Given the description of an element on the screen output the (x, y) to click on. 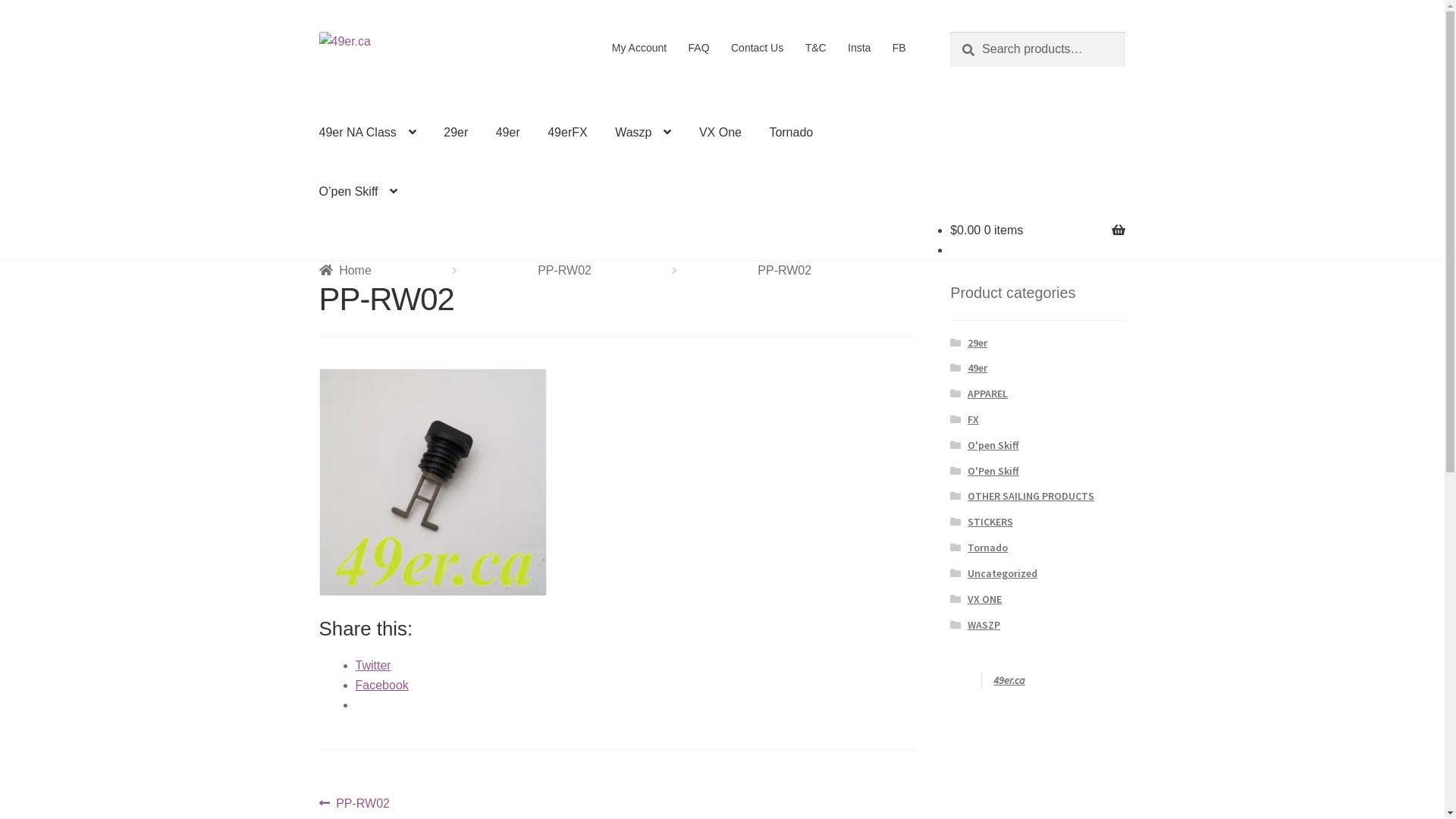
O'pen Skiff Element type: text (993, 444)
Facebook Element type: text (381, 684)
49er Element type: text (977, 367)
Contact Us Element type: text (757, 47)
Skip to navigation Element type: text (318, 31)
Home Element type: text (345, 269)
$0.00 0 items Element type: text (986, 229)
Waszp Element type: text (642, 132)
Insta Element type: text (859, 47)
49er.ca Element type: text (1009, 680)
Search Element type: text (949, 31)
VX One Element type: text (720, 132)
FX Element type: text (973, 419)
PP-RW02 Element type: text (564, 269)
VX ONE Element type: text (984, 598)
49er NA Class Element type: text (367, 132)
APPAREL Element type: text (987, 393)
29er Element type: text (455, 132)
O'Pen Skiff Element type: text (993, 470)
29er Element type: text (977, 342)
STICKERS Element type: text (990, 521)
Twitter Element type: text (373, 664)
Previous post:
PP-RW02 Element type: text (354, 803)
Tornado Element type: text (987, 547)
Tornado Element type: text (790, 132)
Uncategorized Element type: text (1002, 573)
49er Element type: text (507, 132)
FB Element type: text (899, 47)
49erFX Element type: text (567, 132)
FAQ Element type: text (698, 47)
T&C Element type: text (815, 47)
OTHER SAILING PRODUCTS Element type: text (1030, 495)
My Account Element type: text (639, 47)
WASZP Element type: text (983, 624)
